Given the description of an element on the screen output the (x, y) to click on. 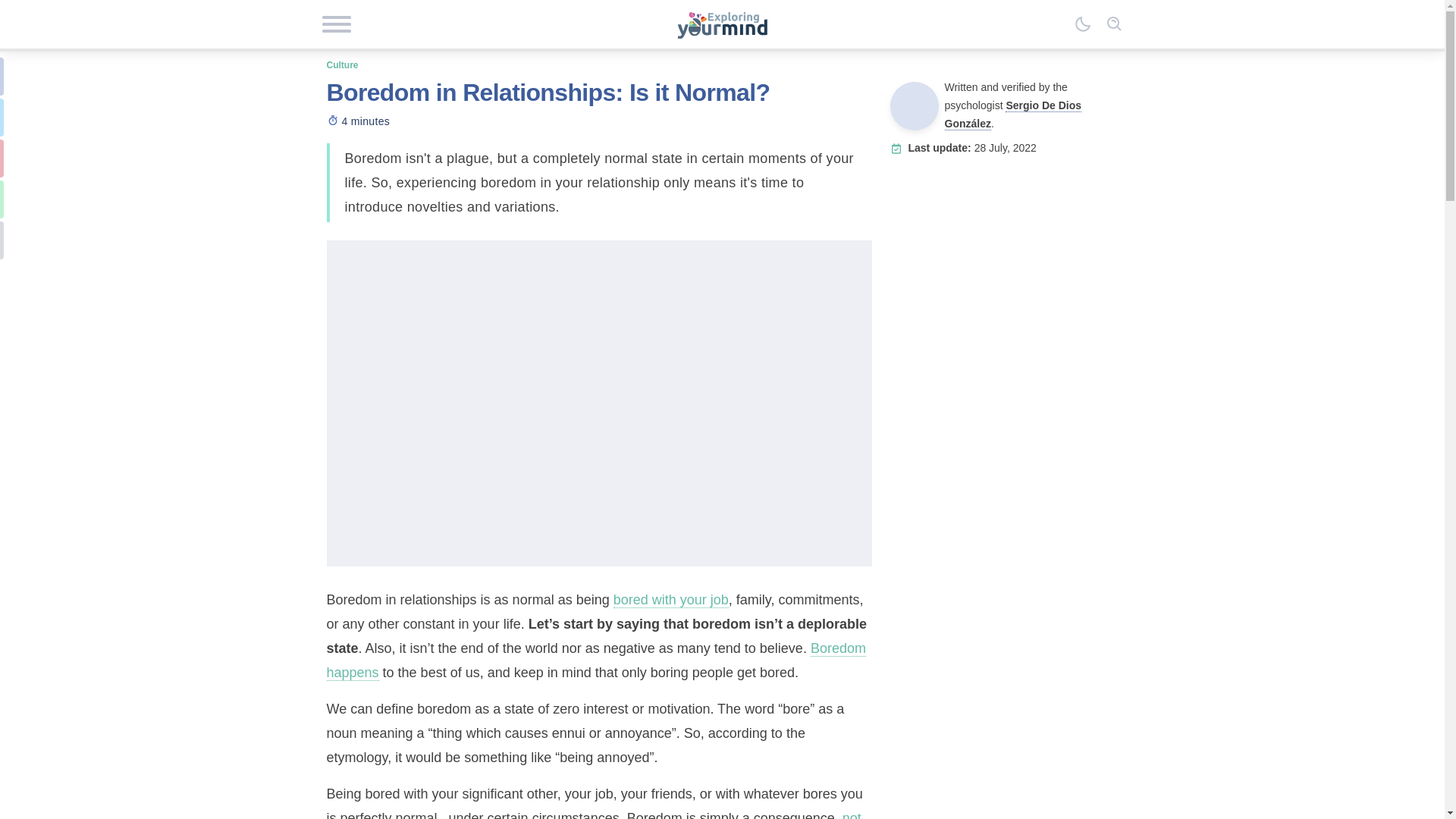
Boredom happens (595, 660)
not a problem in and of itself (593, 814)
Culture (342, 64)
bored with your job (670, 600)
Culture (342, 64)
